Given the description of an element on the screen output the (x, y) to click on. 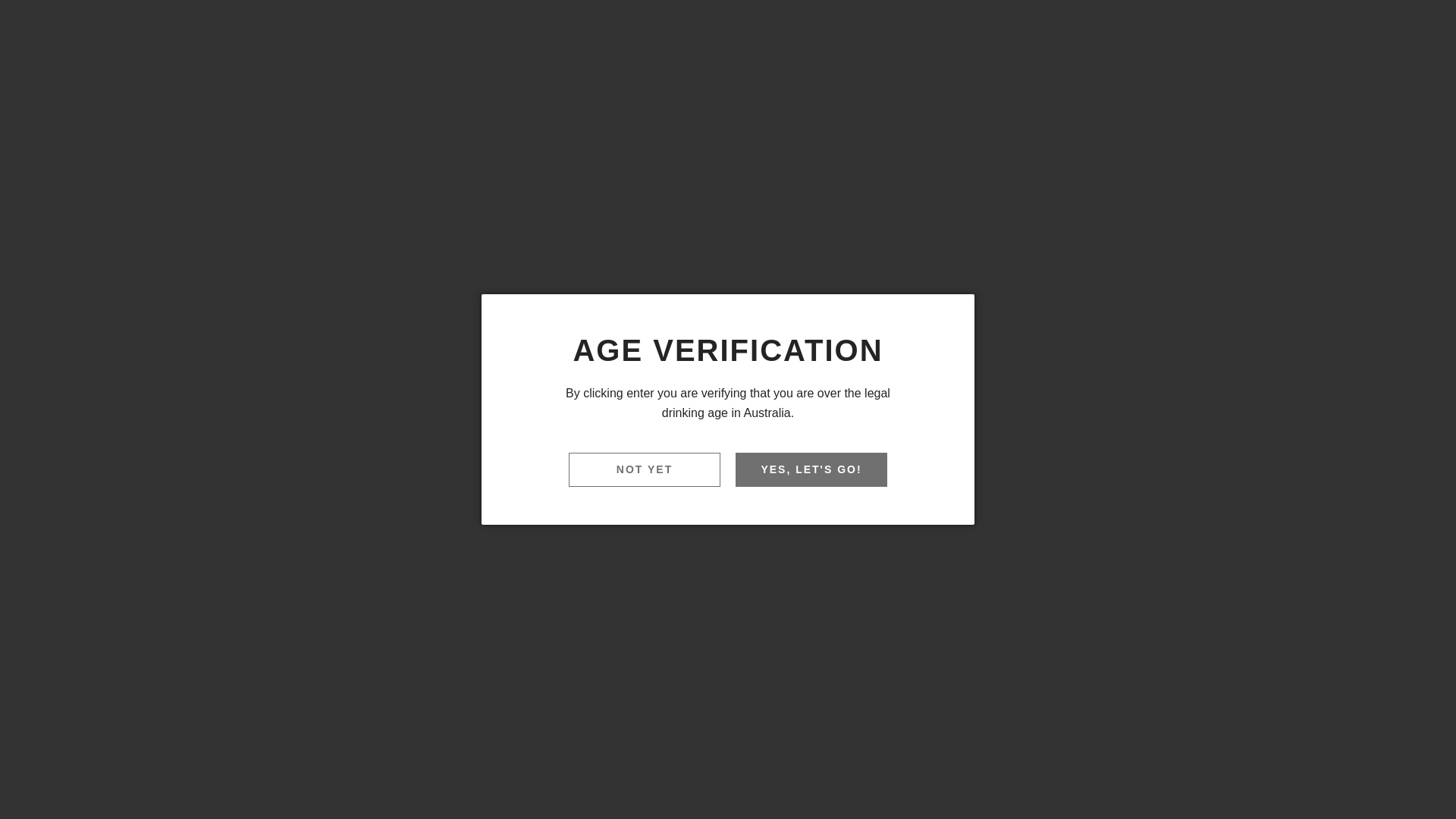
PayPal (990, 738)
YOUTUBE ICON (1432, 27)
Mastercard (945, 738)
Log in (1334, 88)
Facebook icon (532, 464)
YouTube icon (596, 464)
Google Pay (899, 738)
FACEBOOK ICON (1383, 27)
Cart (1377, 88)
YOUTUBE ICON (1432, 27)
